Given the description of an element on the screen output the (x, y) to click on. 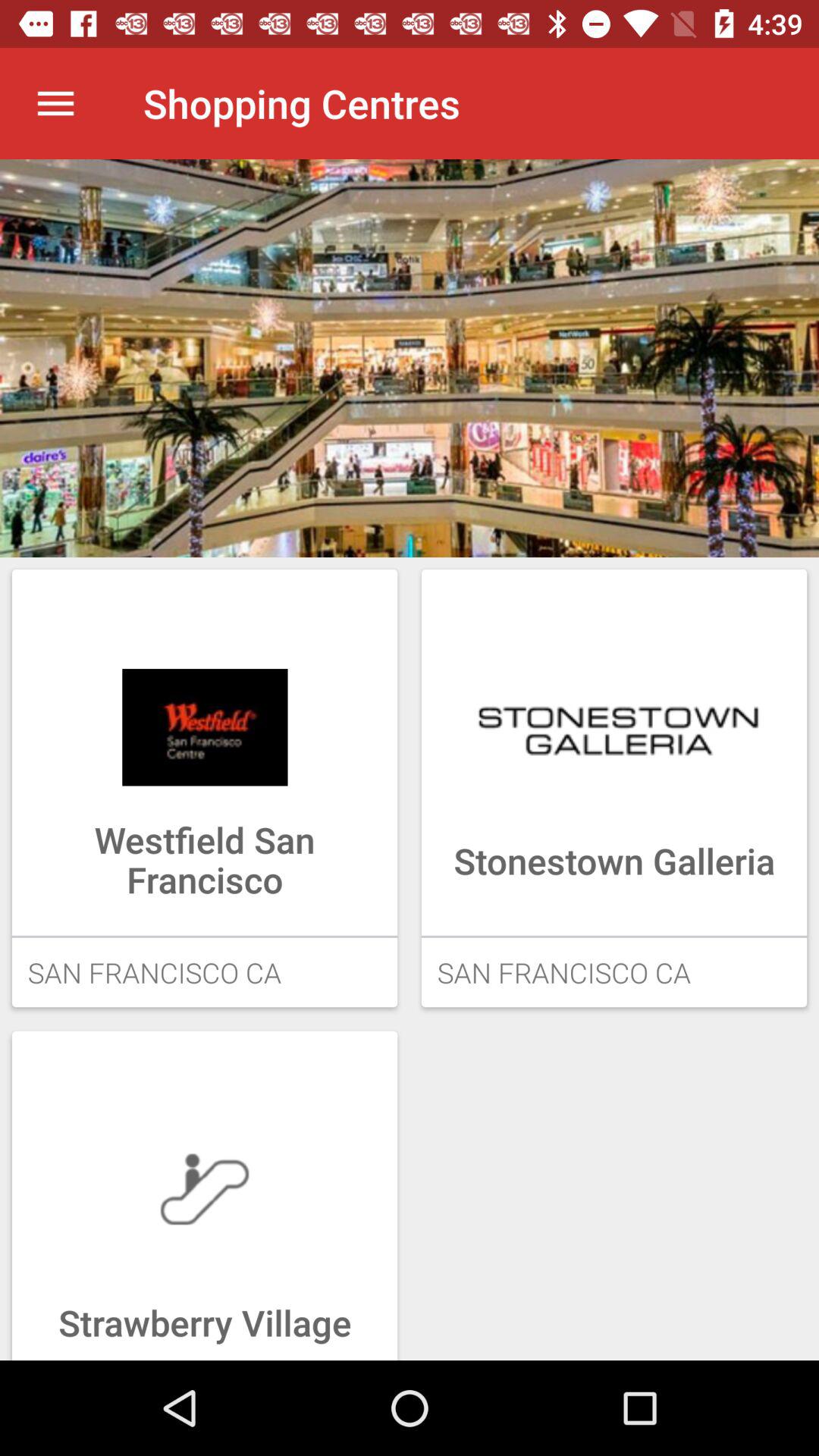
turn on the icon next to the shopping centres (55, 103)
